Given the description of an element on the screen output the (x, y) to click on. 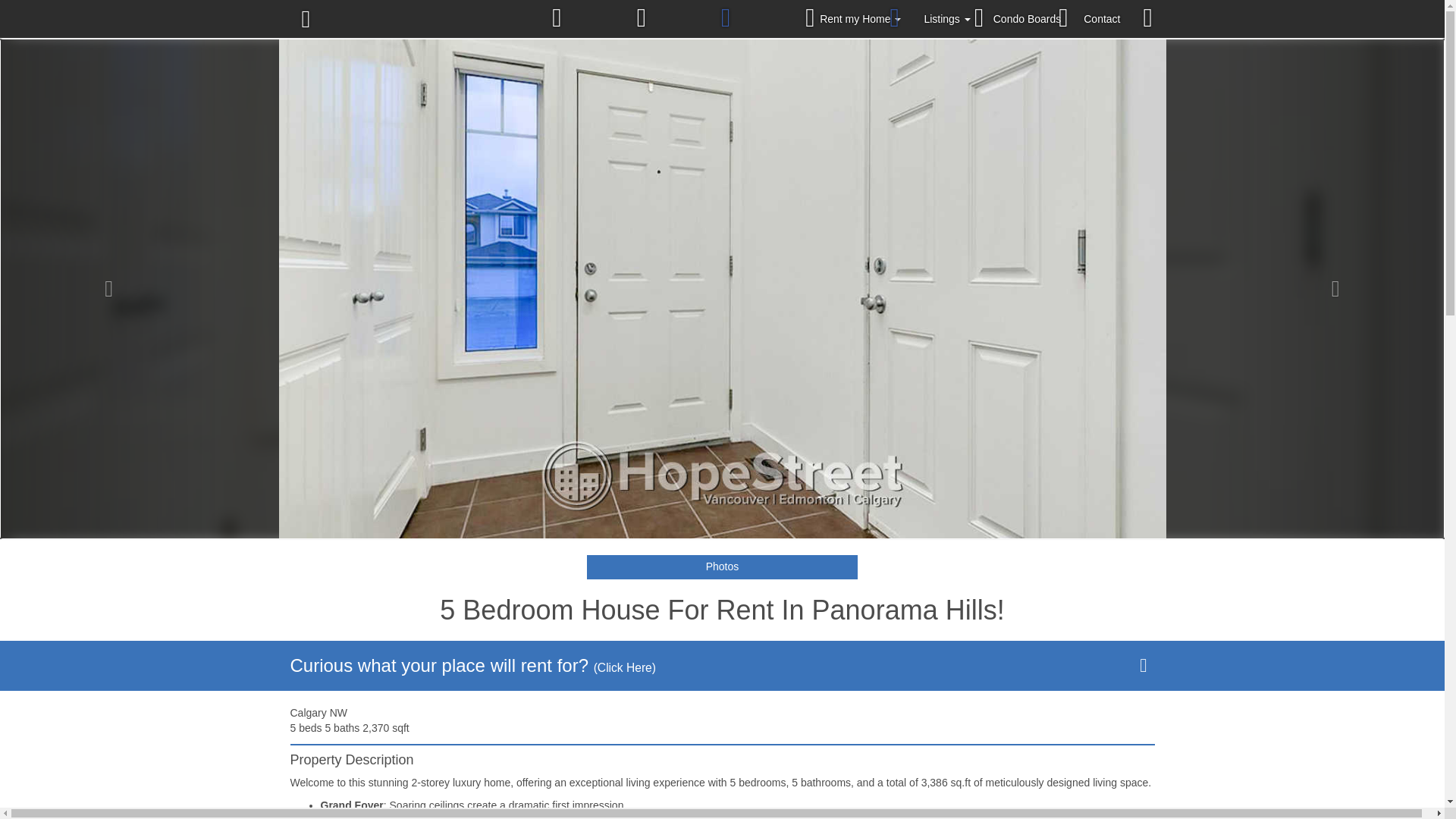
Contact (1101, 18)
Condo Boards (1027, 18)
Rent my Home (860, 18)
Photos (722, 566)
Listings (946, 18)
